Given the description of an element on the screen output the (x, y) to click on. 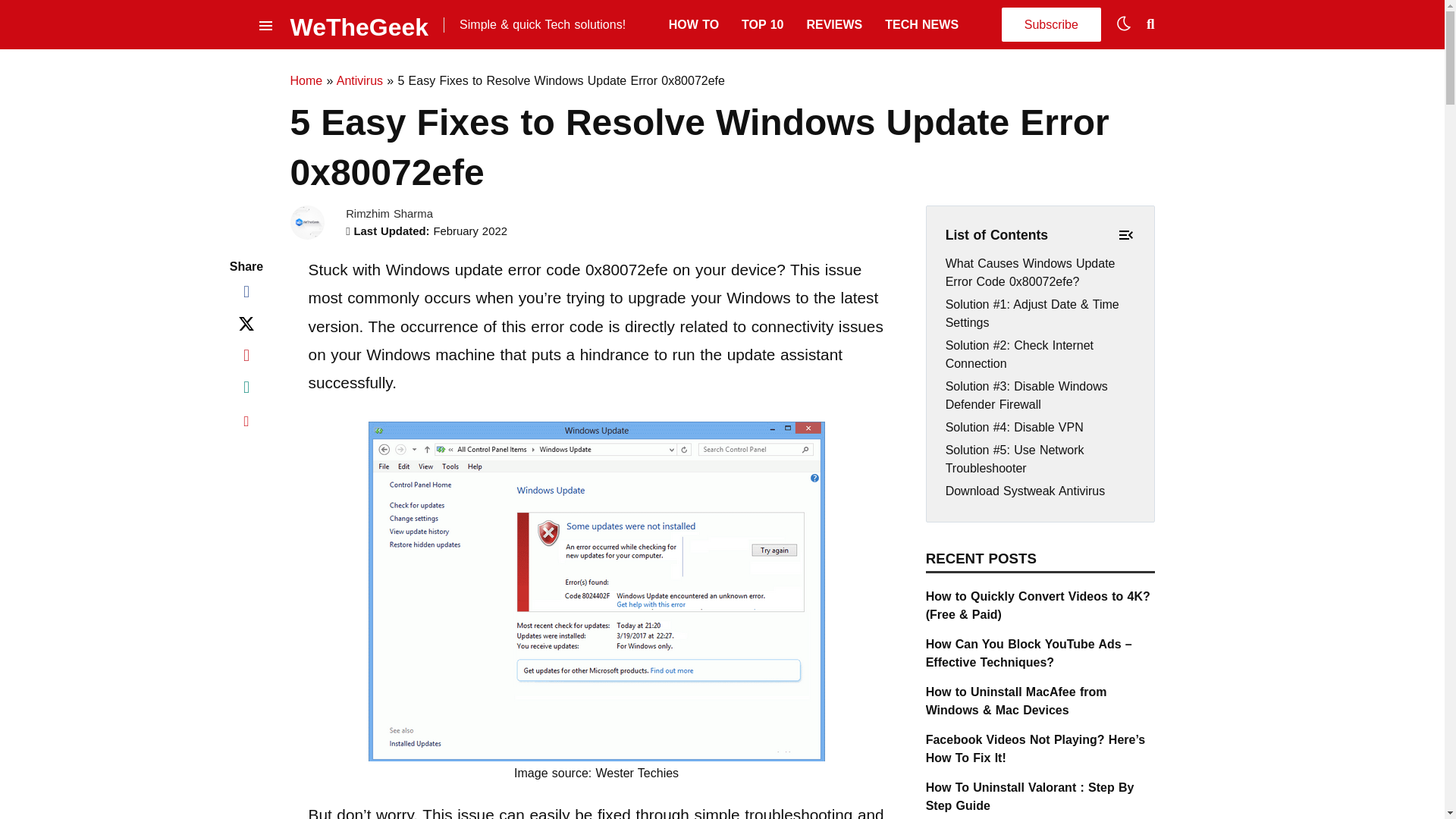
TOP 10 (762, 24)
Home (305, 80)
Rimzhim Sharma (389, 214)
HOW TO (693, 24)
WeTheGeek (358, 24)
Antivirus (359, 80)
REVIEWS (833, 24)
TECH NEWS (921, 24)
